Given the description of an element on the screen output the (x, y) to click on. 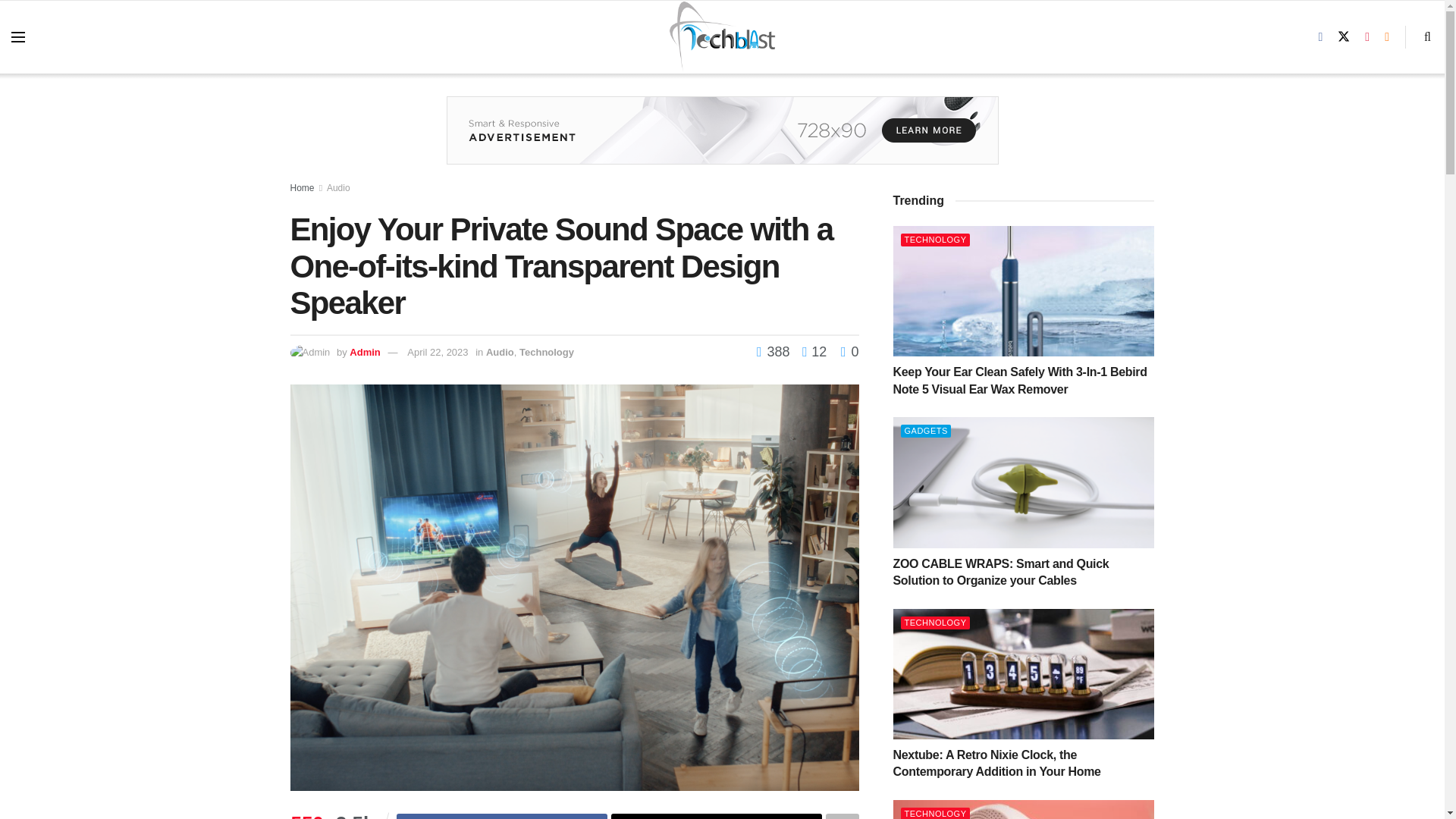
388 (775, 351)
Share on Facebook (501, 816)
0 (850, 351)
12 (810, 351)
Admin (364, 351)
Technology (546, 351)
Audio (499, 351)
Share on Twitter (716, 816)
April 22, 2023 (437, 351)
Audio (338, 187)
Home (301, 187)
